Given the description of an element on the screen output the (x, y) to click on. 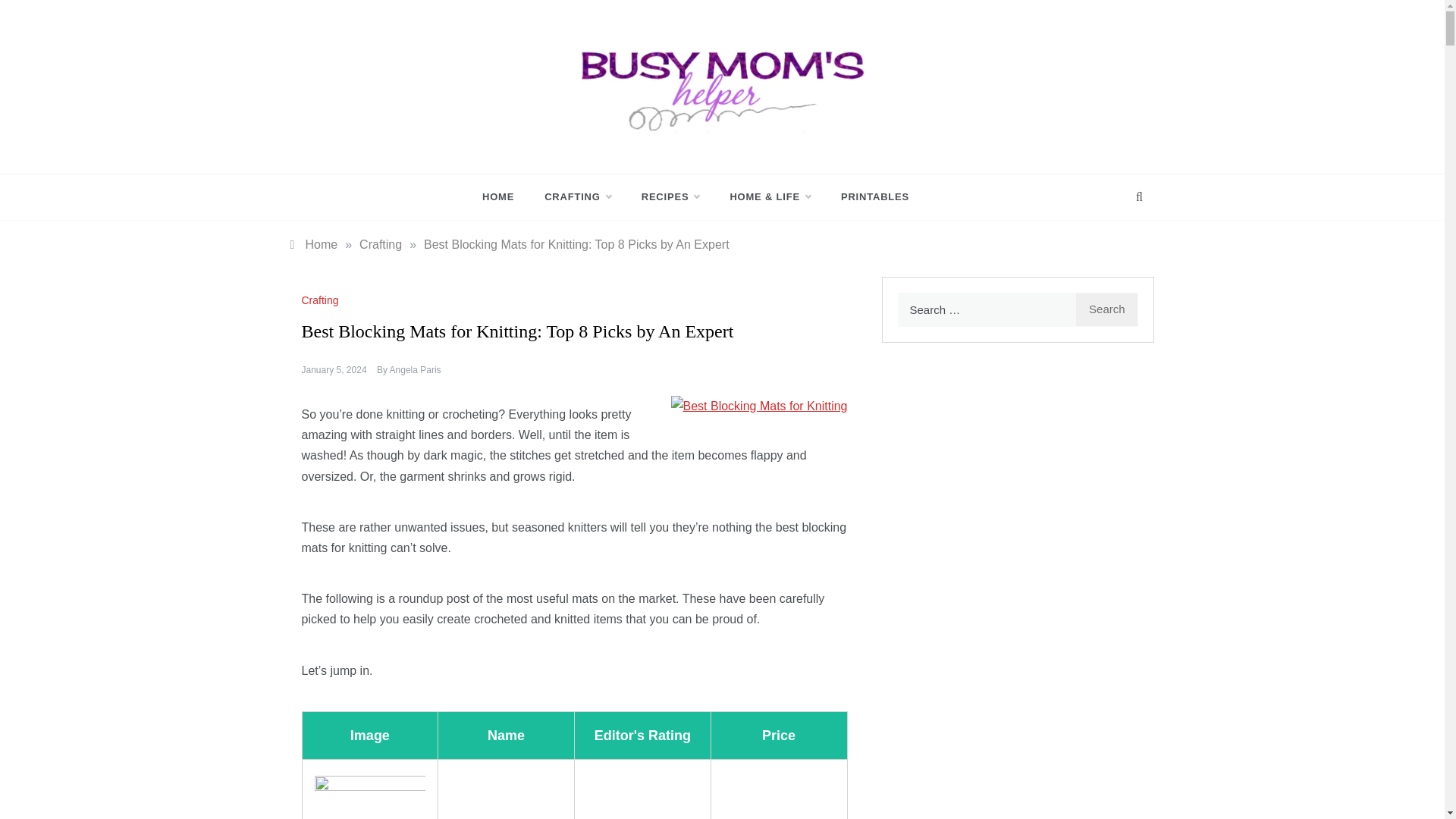
PRINTABLES (866, 197)
Home (313, 244)
Best Blocking Mats for Knitting: Top 8 Picks by An Expert (576, 244)
HOME (505, 197)
Search (1106, 309)
Busy Mom's Helper (657, 147)
Search (1106, 309)
Crafting (380, 244)
CRAFTING (577, 197)
RECIPES (670, 197)
